Given the description of an element on the screen output the (x, y) to click on. 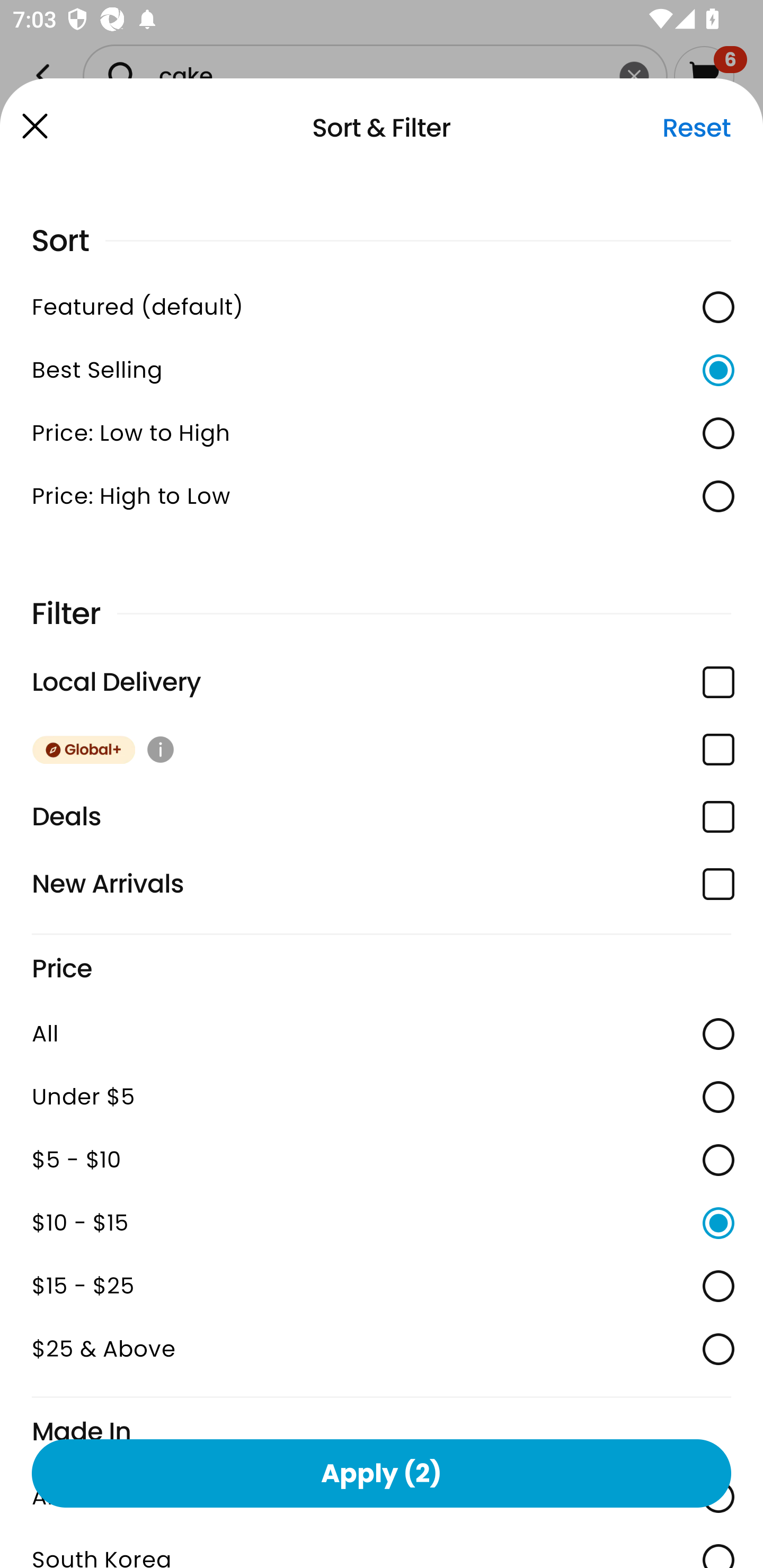
Reset (696, 127)
Apply (2) (381, 1472)
